Given the description of an element on the screen output the (x, y) to click on. 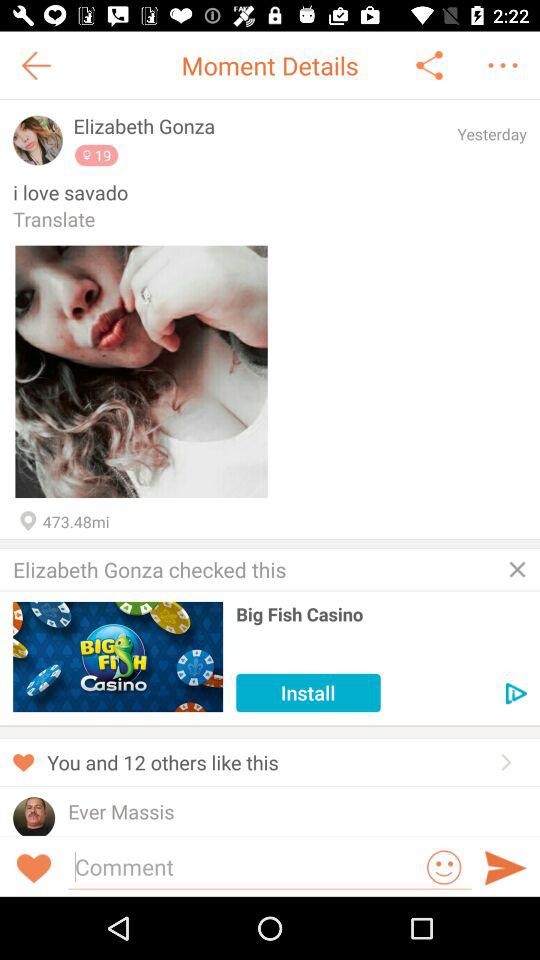
choose the item below big fish casino (308, 692)
